Given the description of an element on the screen output the (x, y) to click on. 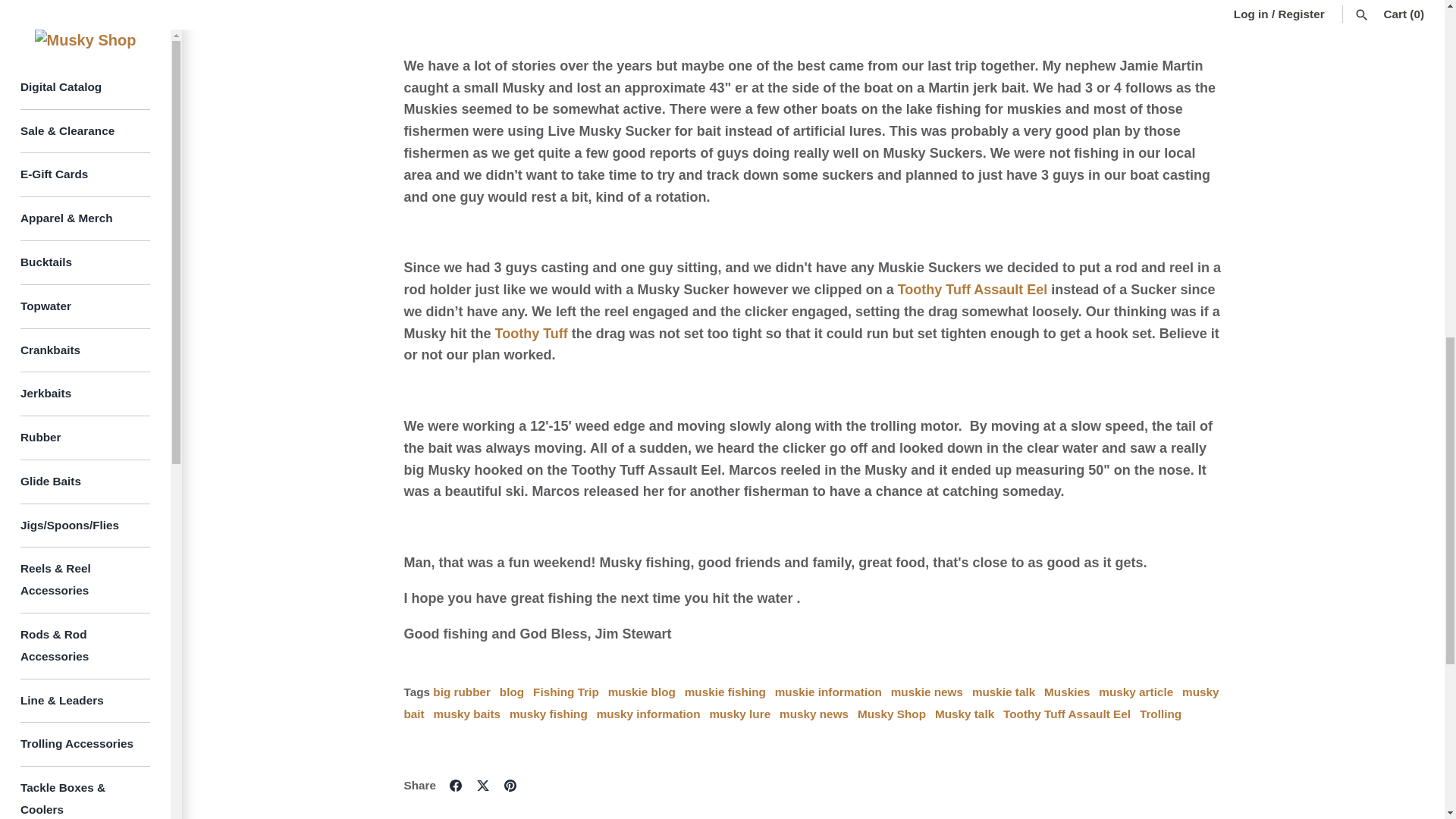
Show articles tagged muskie information (828, 691)
Show articles tagged musky bait (810, 702)
Show articles tagged muskie blog (641, 691)
Show articles tagged Muskies (1066, 691)
Show articles tagged musky fishing (548, 713)
Show articles tagged muskie news (926, 691)
Show articles tagged musky baits (466, 713)
Show articles tagged musky lure (739, 713)
Show articles tagged Fishing Trip (565, 691)
Show articles tagged muskie fishing (724, 691)
